Given the description of an element on the screen output the (x, y) to click on. 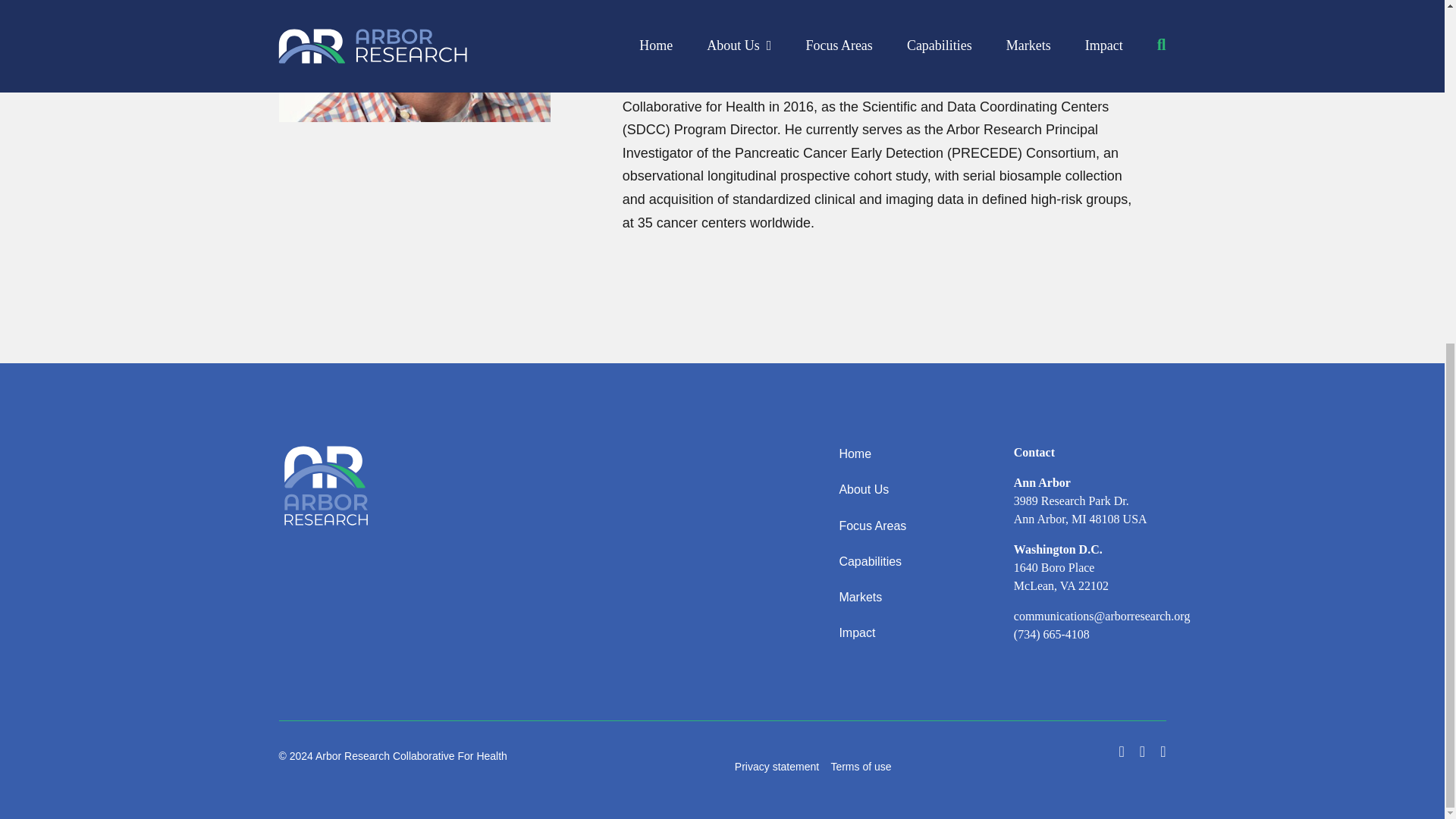
Home (900, 454)
About Us (900, 490)
Capabilities (900, 562)
John Graff (414, 61)
Impact (900, 633)
AR-Stacked-Logo-White-w-Light-Blue-Arch-01 (326, 486)
Focus Areas (900, 526)
About Us (900, 490)
Home (900, 454)
Focus Areas (900, 526)
